Given the description of an element on the screen output the (x, y) to click on. 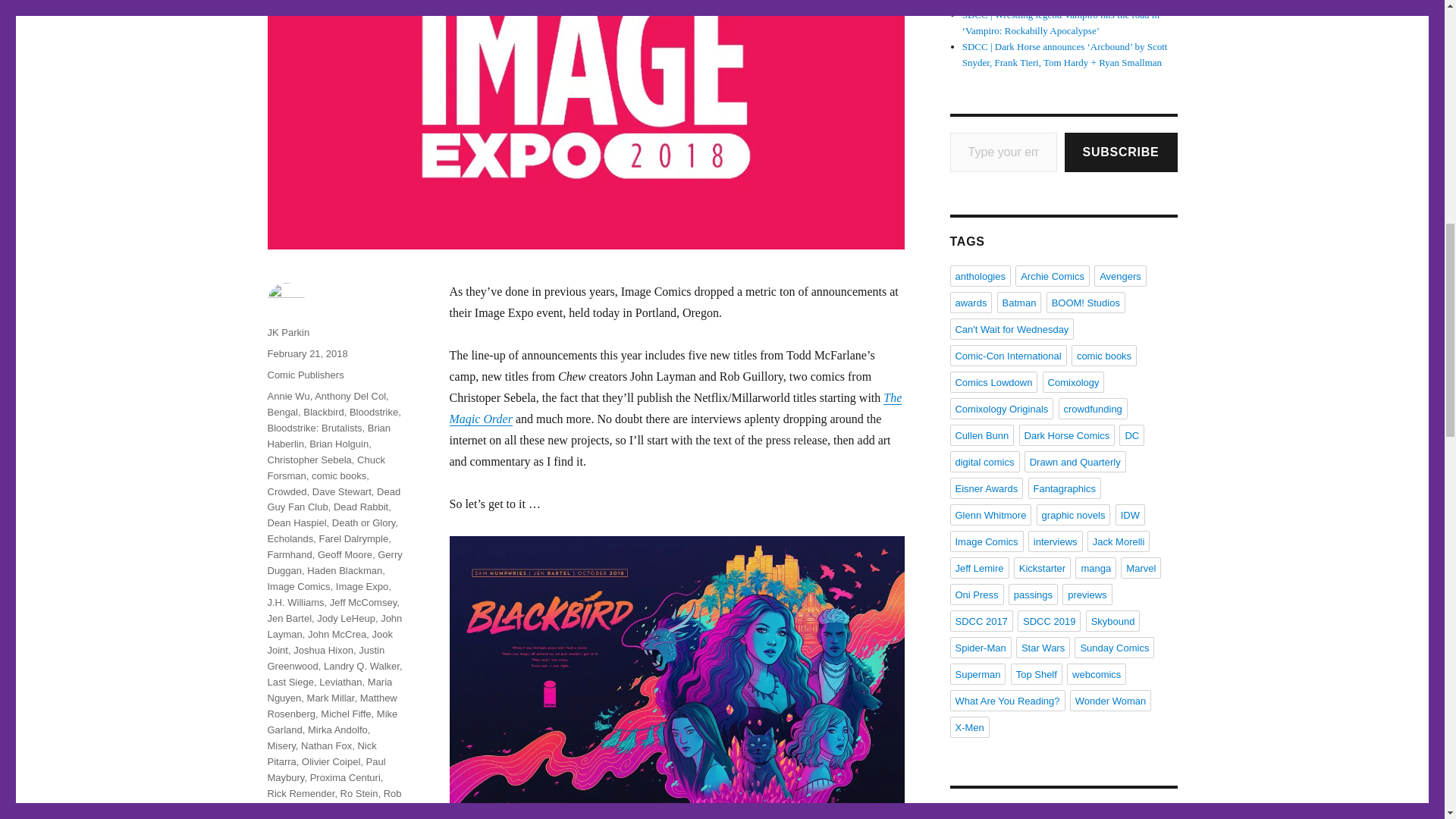
Anthony Del Col (349, 396)
JK Parkin (287, 332)
Bengal (281, 411)
Annie Wu (287, 396)
Brian Holguin (338, 443)
Death or Glory (363, 522)
Chuck Forsman (325, 467)
Dave Stewart (342, 490)
February 21, 2018 (306, 353)
Bloodstrike: Brutalists (313, 428)
The Magic Order (674, 408)
Crowded (285, 490)
Christopher Sebela (308, 460)
Farel Dalrymple (353, 538)
Bloodstrike (373, 411)
